Given the description of an element on the screen output the (x, y) to click on. 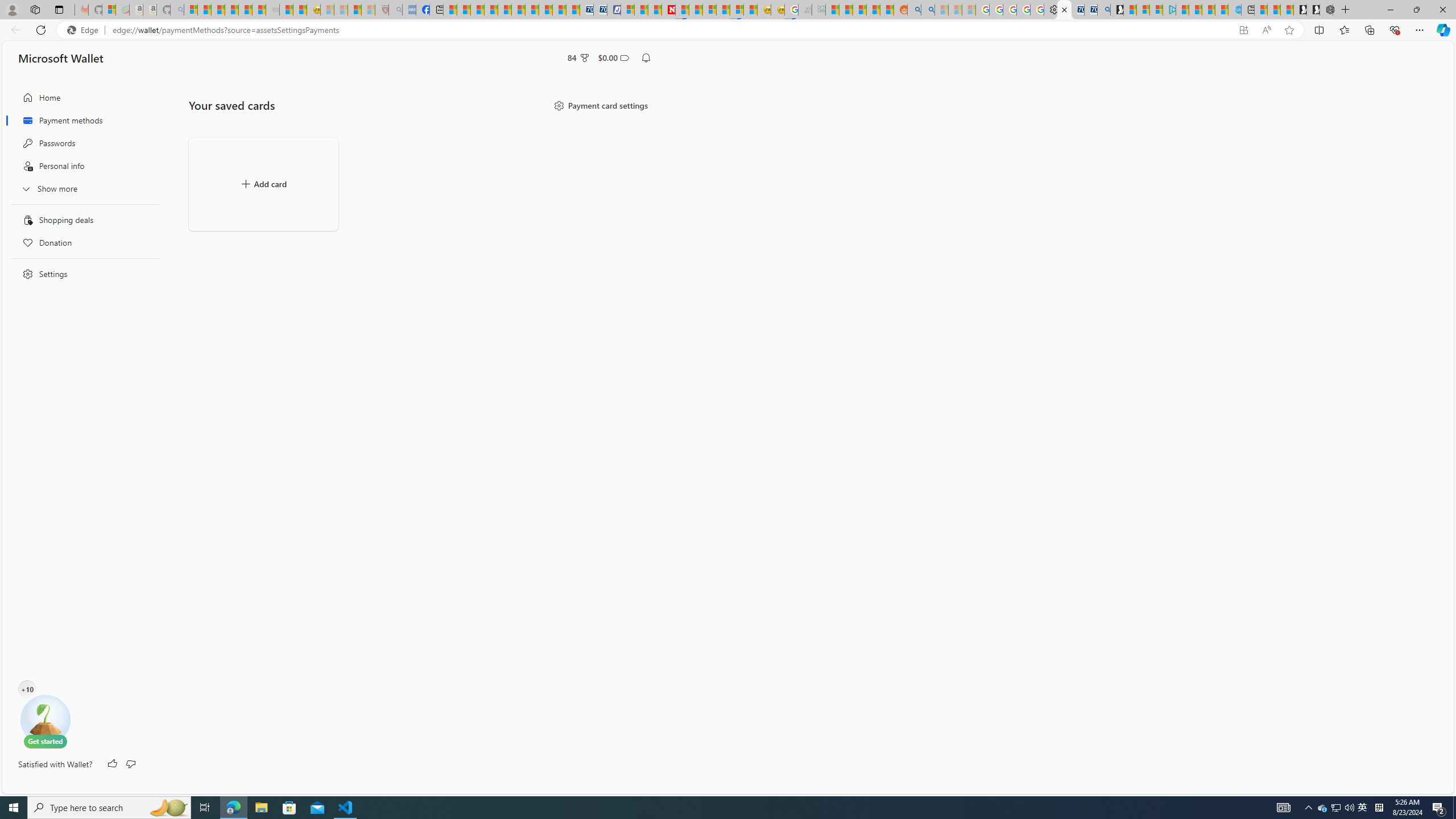
Bing Real Estate - Home sales and rental listings (1103, 9)
Notification (646, 58)
Utah sues federal government - Search (927, 9)
Cheap Hotels - Save70.com (599, 9)
12 Popular Science Lies that Must be Corrected - Sleeping (368, 9)
